Given the description of an element on the screen output the (x, y) to click on. 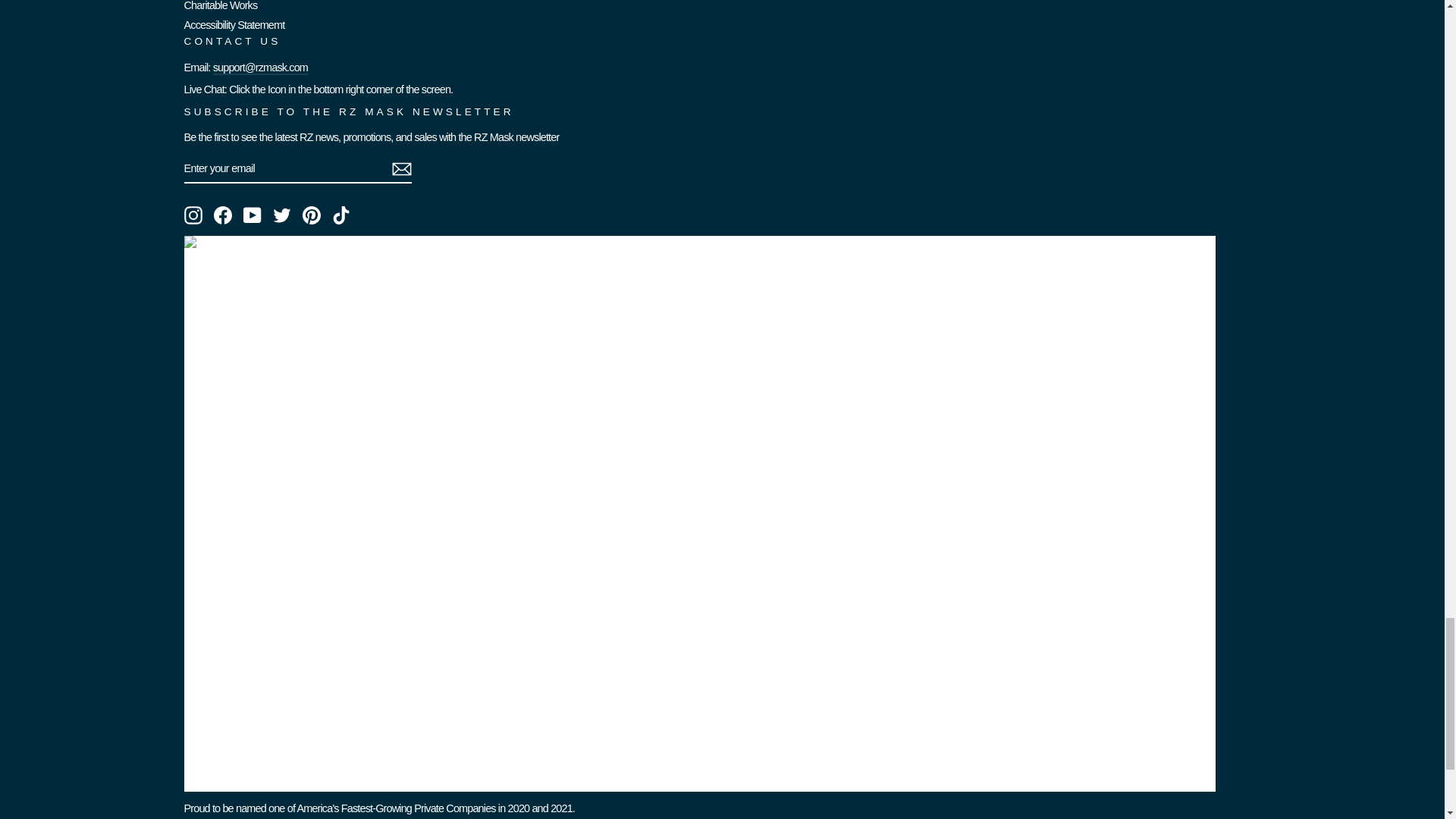
RZ Mask on Instagram (192, 215)
